Given the description of an element on the screen output the (x, y) to click on. 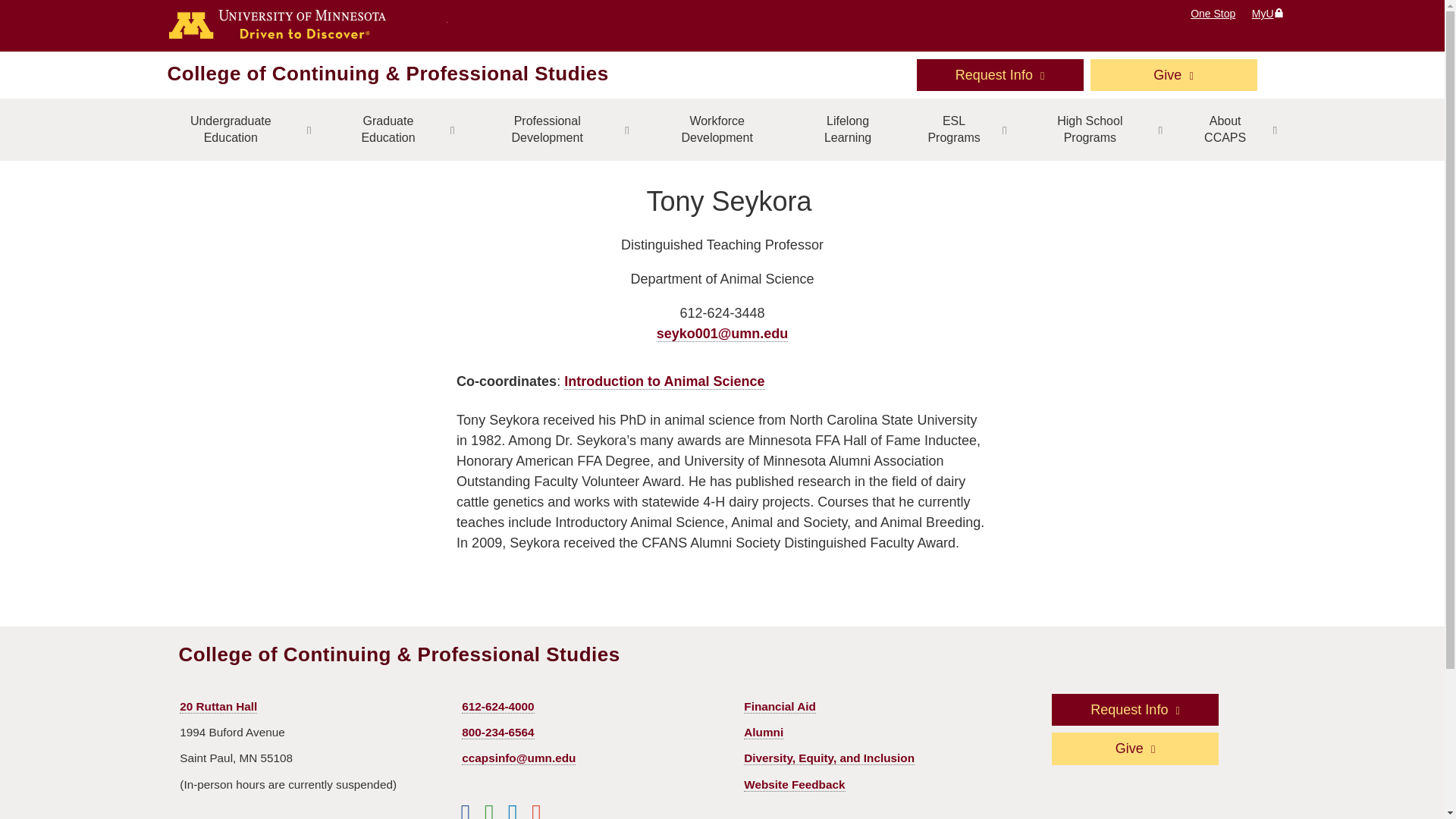
Call 612-624-4000 (497, 706)
English Language Programs (962, 129)
Graduate Degrees, Certificates, and Minors (396, 129)
Certificates, Courses, Boot Camps, and Webinars (555, 129)
High School Programs (1098, 129)
Undergraduate Degrees, Certificates, and Minors (238, 129)
Osher Lifelong Learning Institute (847, 129)
Maroon and Golden Education for Your Workforce Development (716, 129)
Call 800-234-6564 (497, 732)
